Given the description of an element on the screen output the (x, y) to click on. 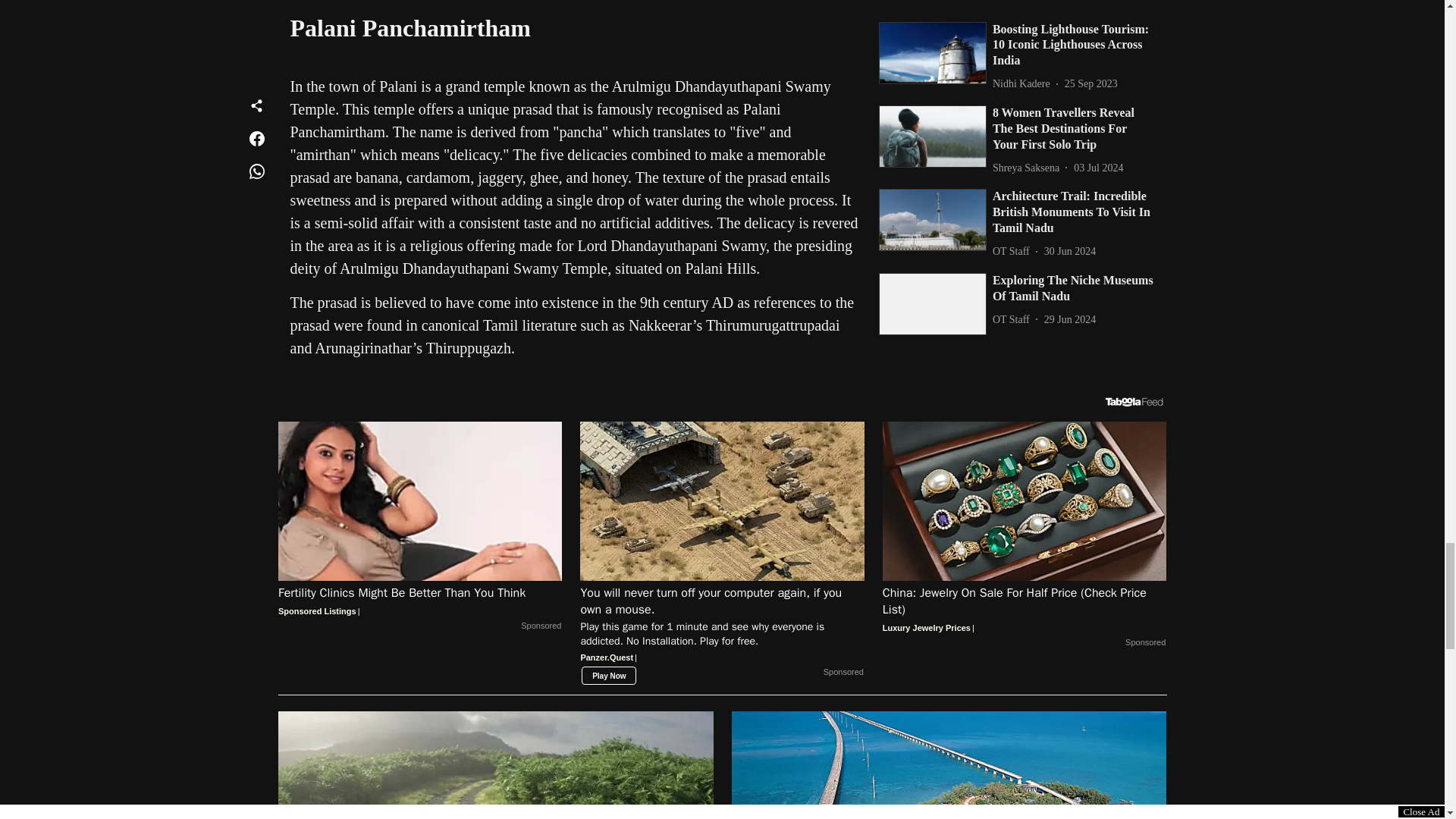
Fertility Clinics Might Be Better Than You Think (420, 601)
